Given the description of an element on the screen output the (x, y) to click on. 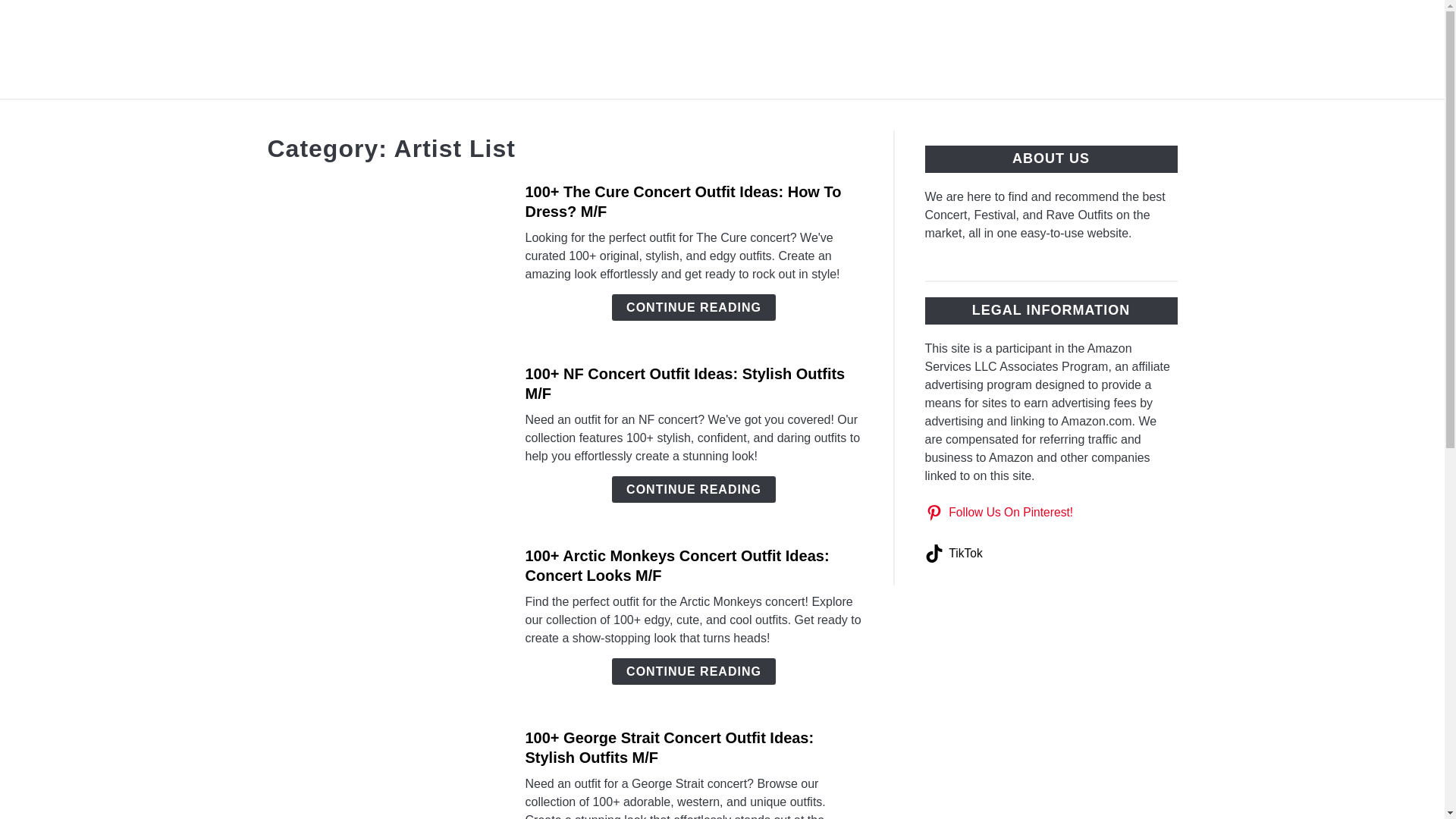
FESTIVALS (704, 117)
RAVES (799, 117)
BLOG (874, 117)
CONTINUE READING (693, 307)
Search (1203, 49)
HOME (502, 117)
SHOP (942, 117)
CONCERTS (594, 117)
